Given the description of an element on the screen output the (x, y) to click on. 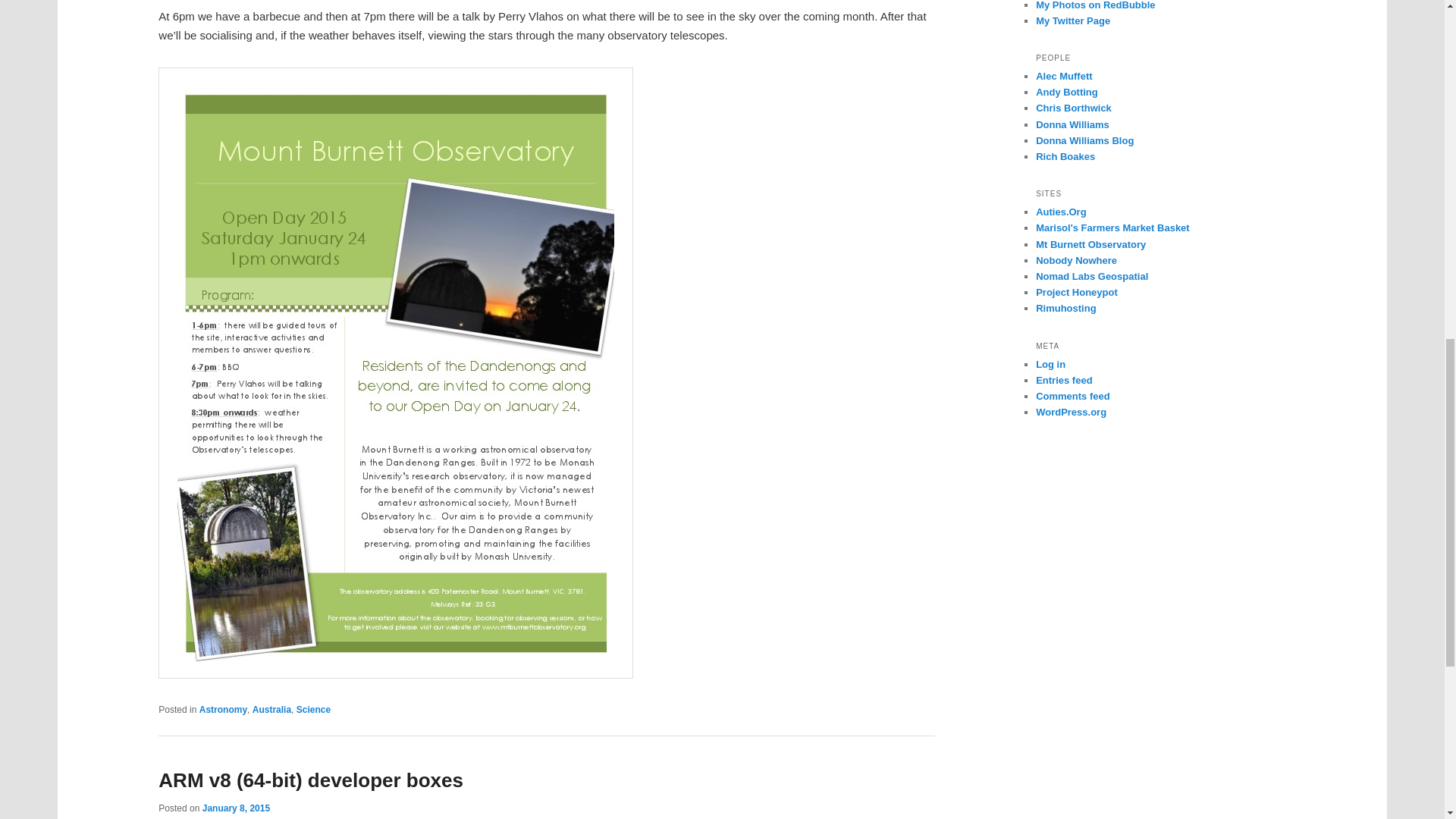
Dry wit and a sharp eye (1073, 107)
Astronomy (223, 709)
Fellow Linux geek (1066, 91)
10:01 pm (235, 808)
January 8, 2015 (235, 808)
The website of my late wife, Donna Williams (1072, 124)
You can buy prints of some of my best photos from RedBubble (1094, 4)
Science (313, 709)
Chris Samuel on Twitter (1072, 20)
Australia (271, 709)
